Given the description of an element on the screen output the (x, y) to click on. 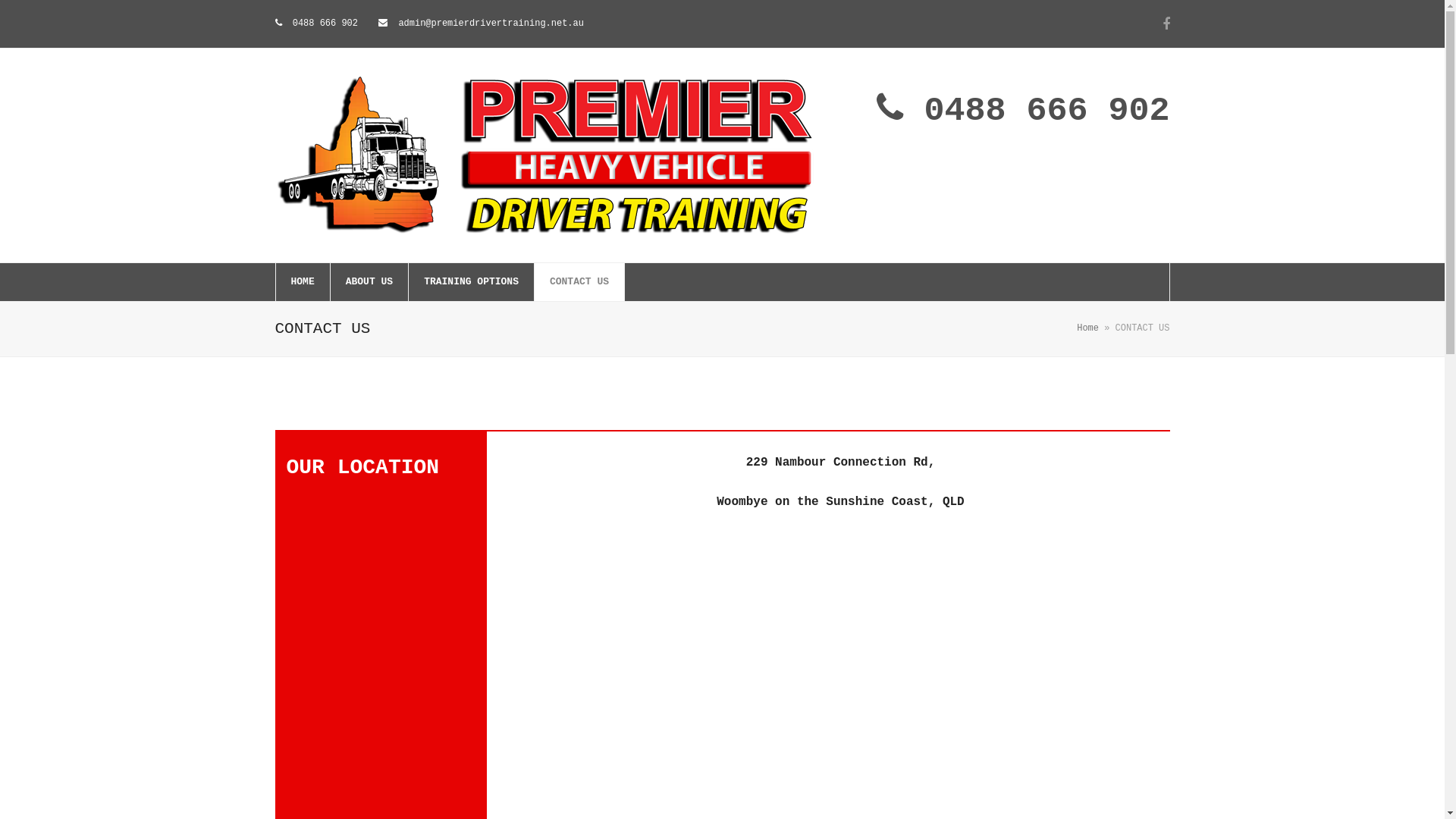
admin@premierdrivertraining.net.au Element type: text (480, 23)
Facebook Element type: text (1165, 23)
0488 666 902 Element type: text (315, 23)
TRAINING OPTIONS Element type: text (470, 282)
Woombye on the Sunshine Coast, QLD Element type: text (839, 501)
CONTACT US Element type: text (579, 282)
ABOUT US Element type: text (368, 282)
HOME Element type: text (302, 282)
229 Nambour Connection Rd, Element type: text (840, 462)
0488 666 902 Element type: text (1022, 110)
Home Element type: text (1087, 328)
